Given the description of an element on the screen output the (x, y) to click on. 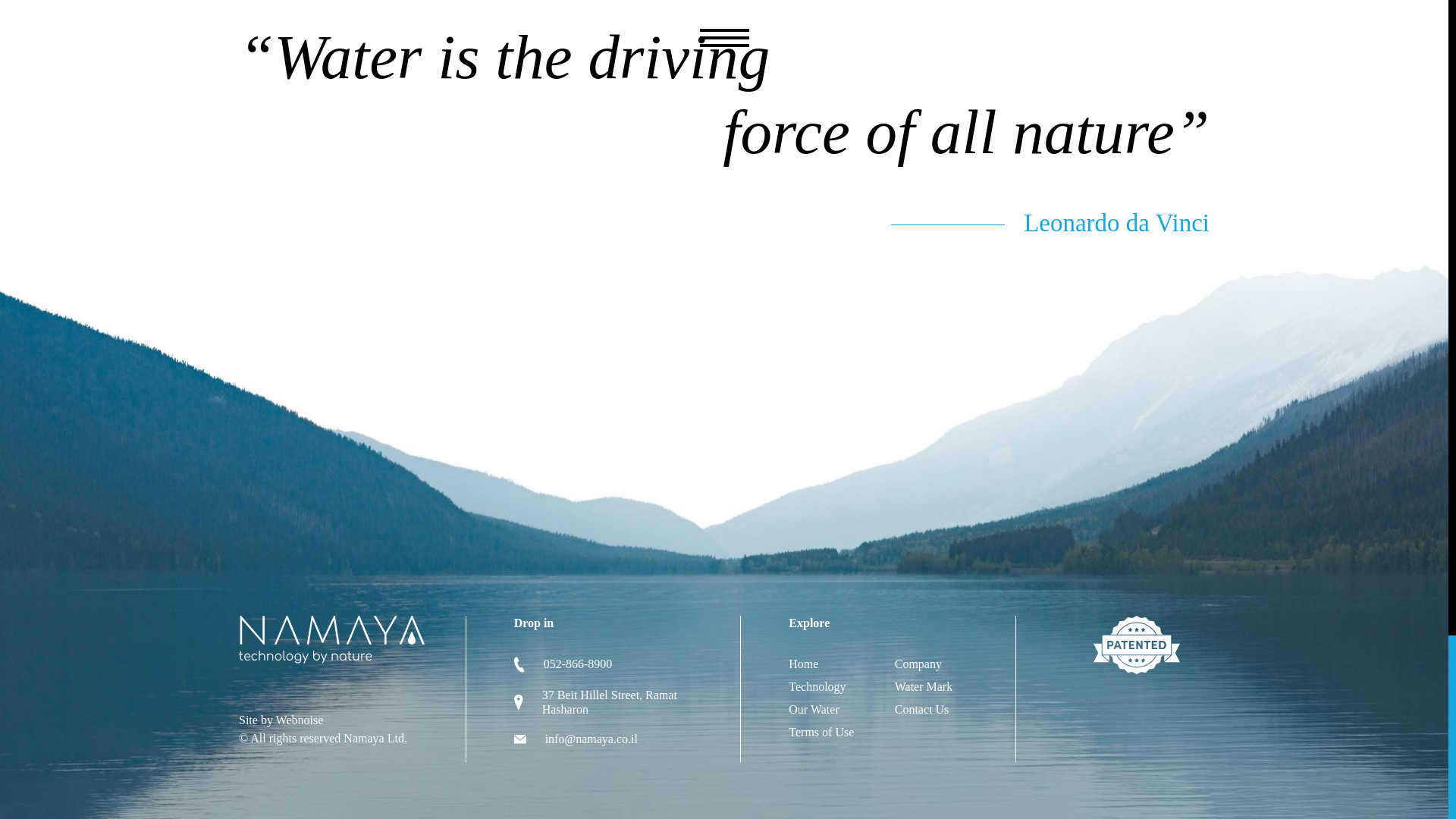
Company (918, 663)
Contact Us (922, 708)
Our Water (813, 708)
Water Mark (923, 686)
Home (803, 663)
052-866-8900 (577, 664)
Terms of Use (821, 731)
Webnoise (299, 719)
Technology (817, 686)
